Given the description of an element on the screen output the (x, y) to click on. 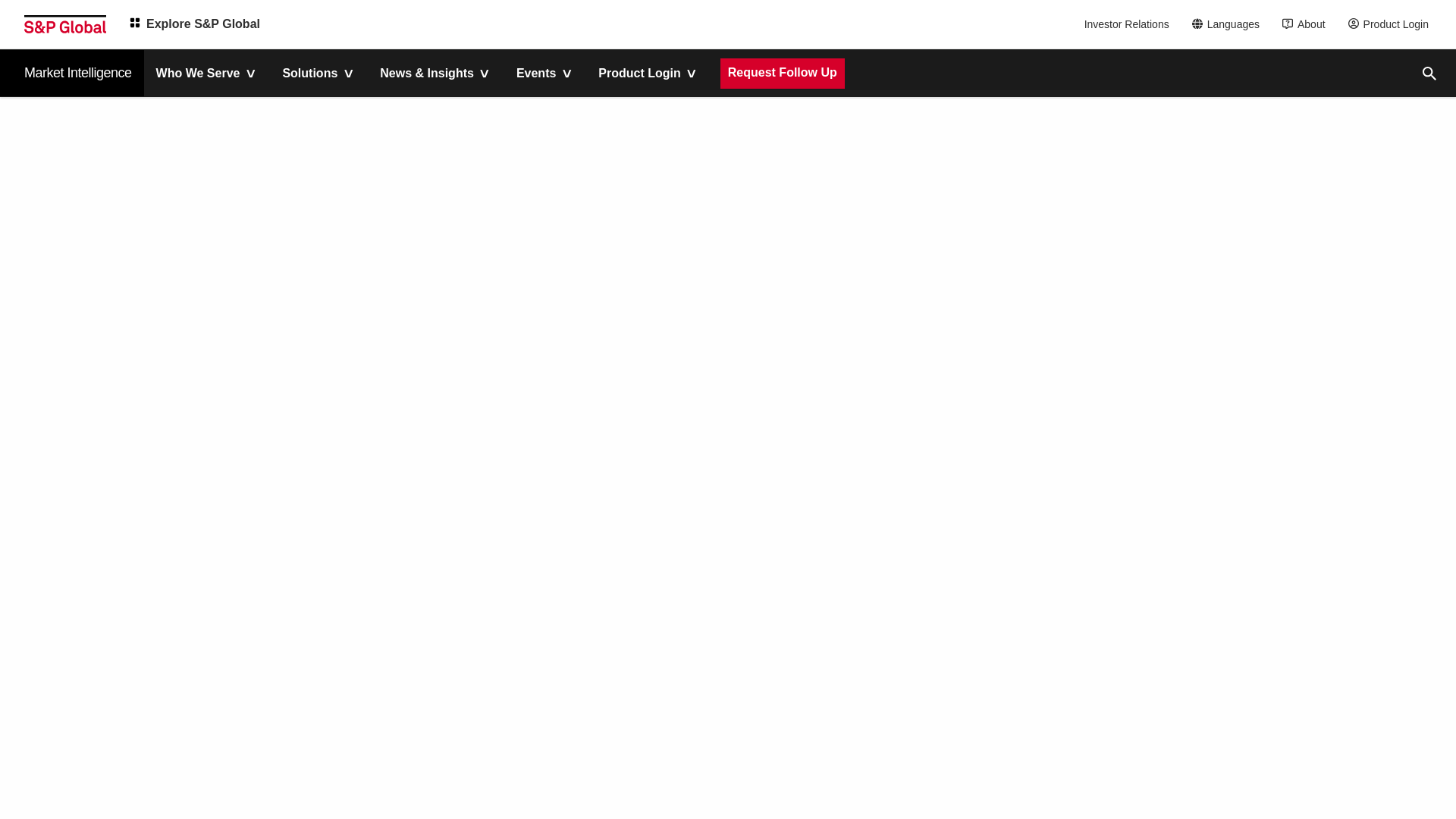
Product Login (1392, 24)
About (1307, 24)
Investor Relations (1129, 24)
Languages (1230, 24)
